Given the description of an element on the screen output the (x, y) to click on. 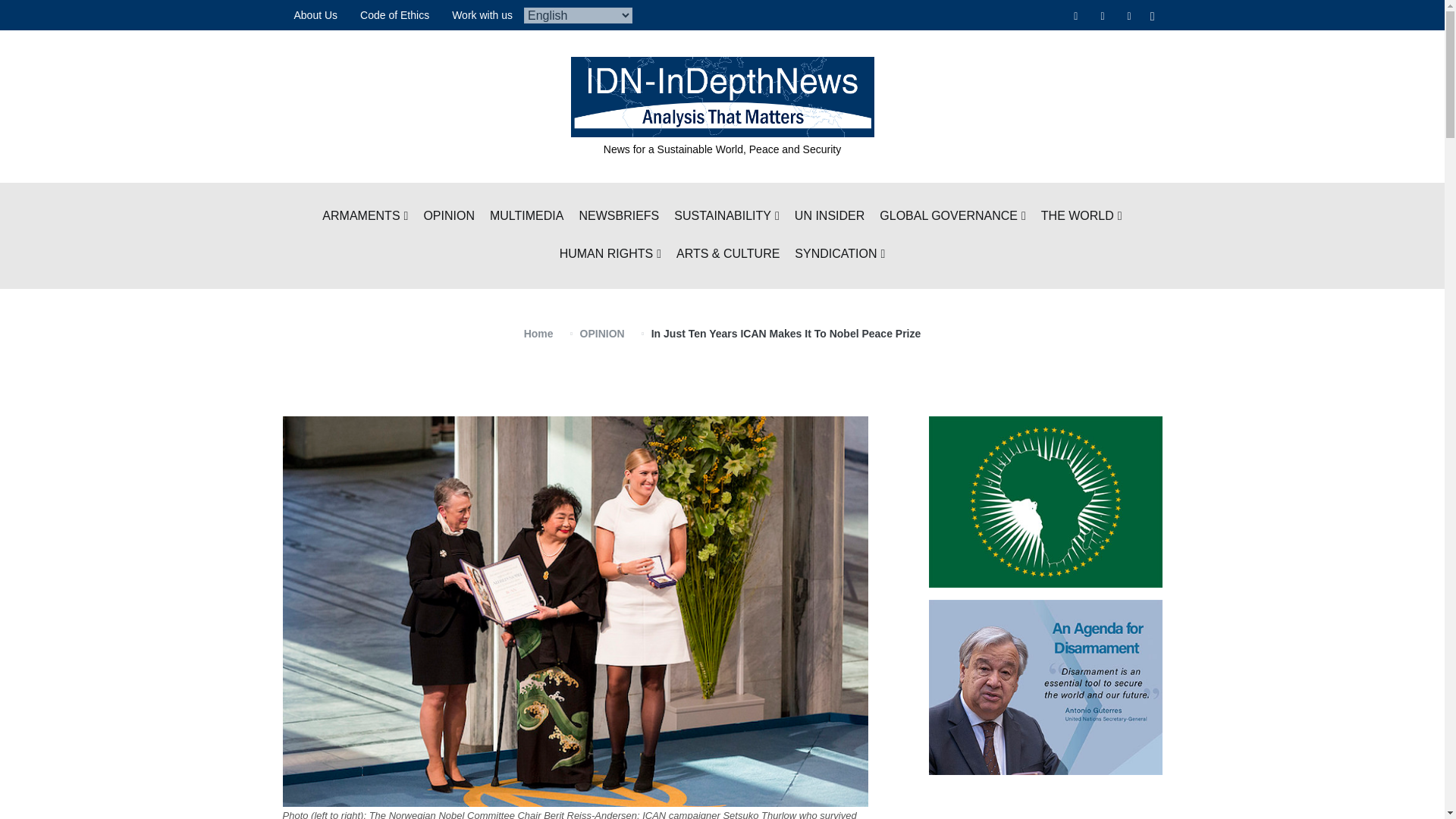
Work with us (482, 14)
About Us (315, 14)
MULTIMEDIA (526, 216)
ARMAMENTS (364, 216)
NEWSBRIEFS (618, 216)
GLOBAL GOVERNANCE (952, 216)
OPINION (448, 216)
SUSTAINABILITY (726, 216)
UN INSIDER (829, 216)
Code of Ethics (395, 14)
